Given the description of an element on the screen output the (x, y) to click on. 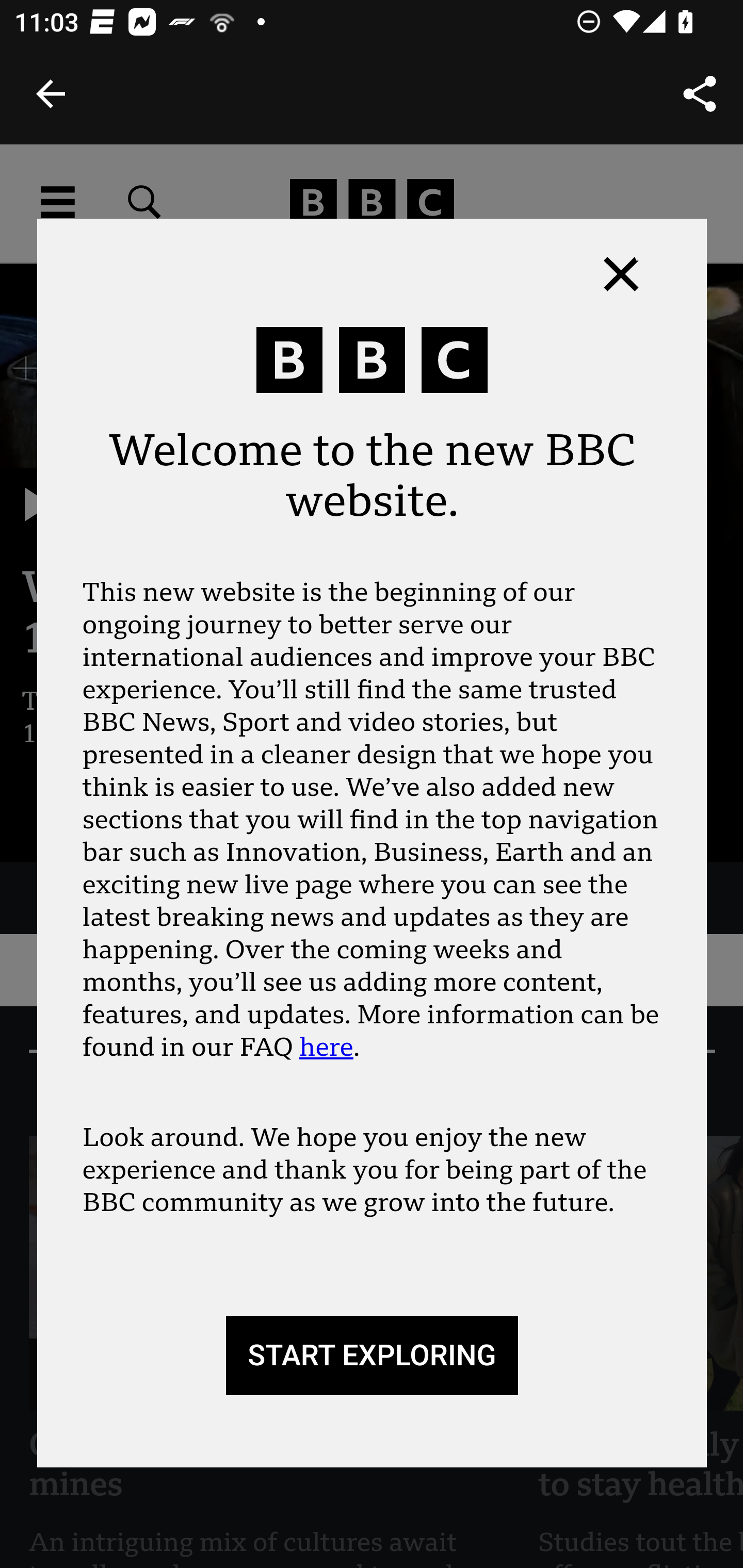
Back (50, 93)
Share (699, 93)
www.bbc (371, 203)
www.bbc (371, 202)
See more (110, 811)
here (325, 1048)
START EXPLORING (371, 1356)
